Given the description of an element on the screen output the (x, y) to click on. 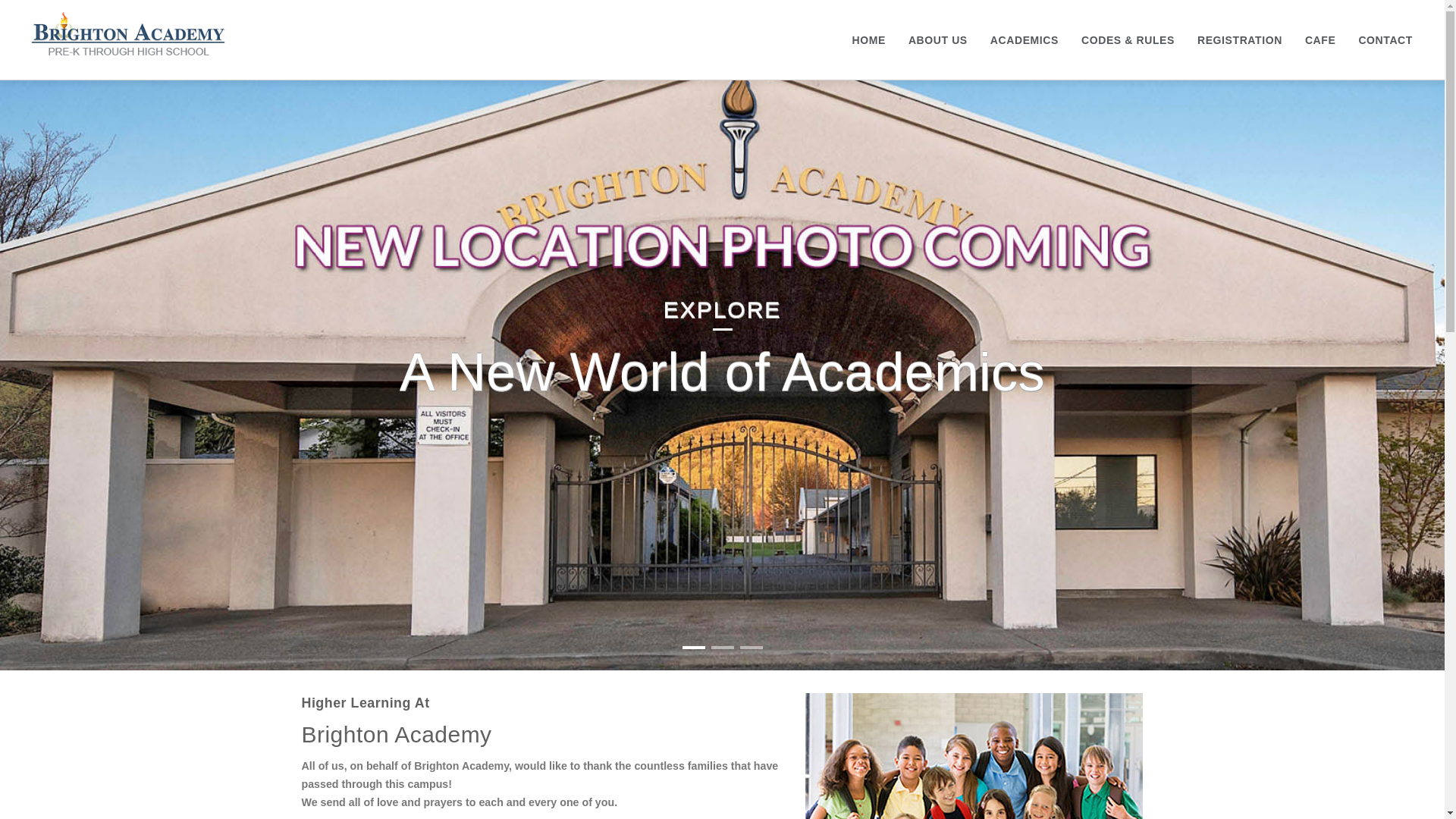
ABOUT US (937, 40)
EXPLORE (722, 309)
CONTACT (1385, 40)
HOME (868, 40)
ACADEMICS (1024, 40)
CAFE (1320, 40)
REGISTRATION (1239, 40)
